Given the description of an element on the screen output the (x, y) to click on. 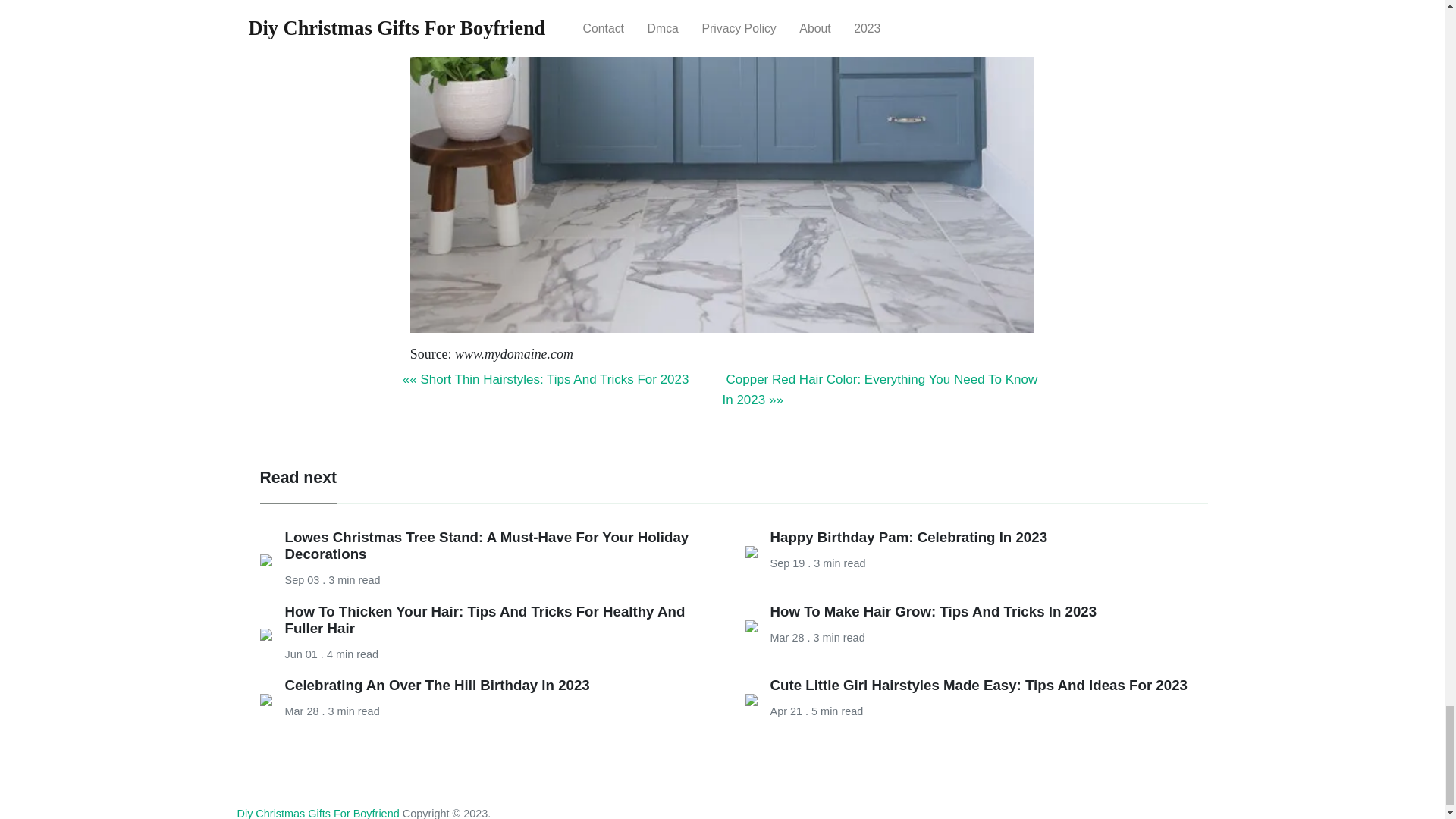
Diy Christmas Gifts For Boyfriend (316, 813)
How To Make Hair Grow: Tips And Tricks In 2023 (933, 611)
Happy Birthday Pam: Celebrating In 2023 (909, 537)
Celebrating An Over The Hill Birthday In 2023 (437, 684)
